Given the description of an element on the screen output the (x, y) to click on. 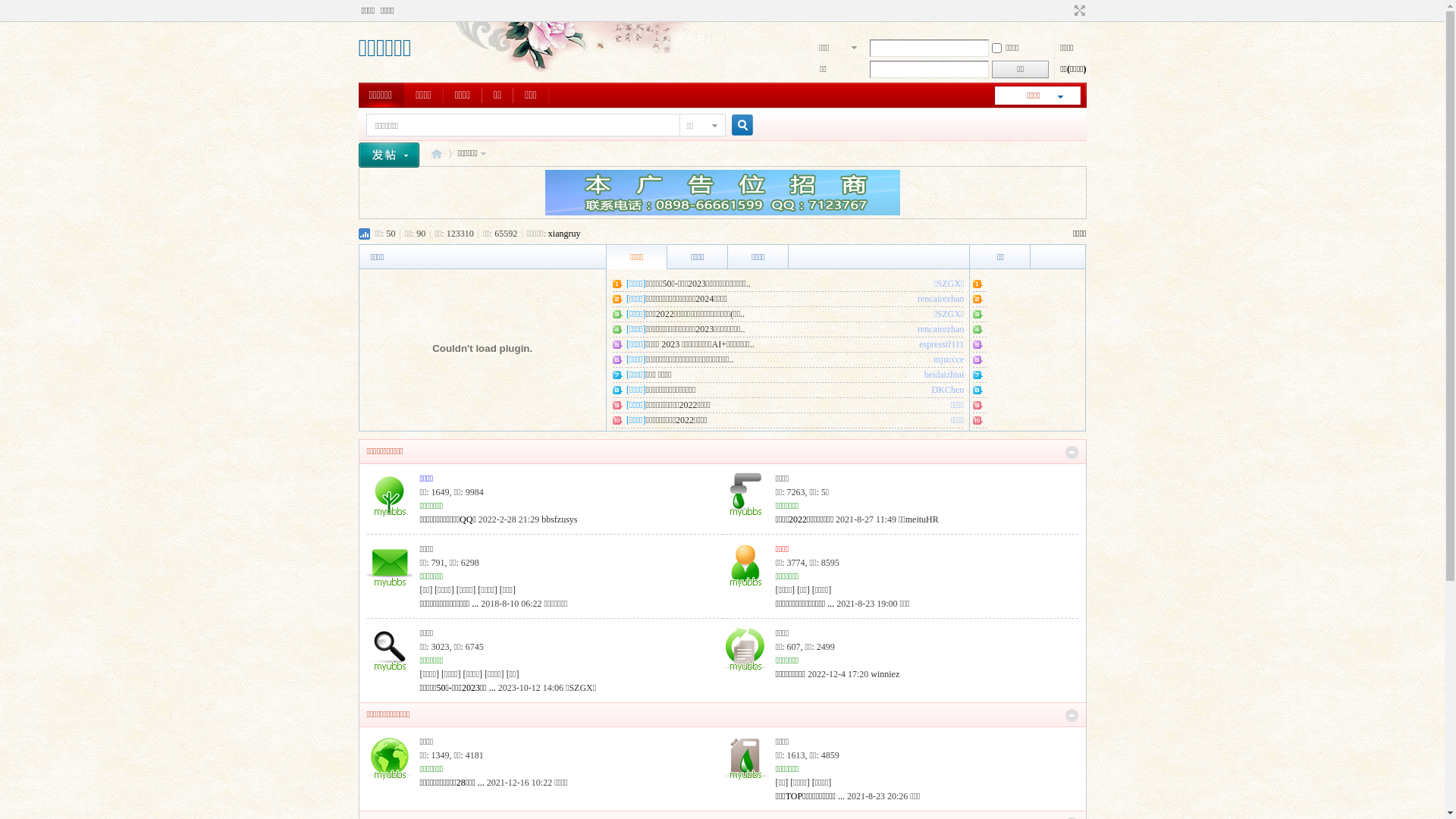
bbsfzusys Element type: text (559, 519)
winniez Element type: text (884, 673)
beidaizhiai Element type: text (944, 374)
xiangruy Element type: text (564, 233)
rencairezhao Element type: text (940, 298)
true Element type: text (735, 125)
     Element type: text (393, 153)
espressif111 Element type: text (941, 343)
mjuccce Element type: text (948, 359)
DKChen Element type: text (947, 389)
rencairezhao Element type: text (940, 328)
